Given the description of an element on the screen output the (x, y) to click on. 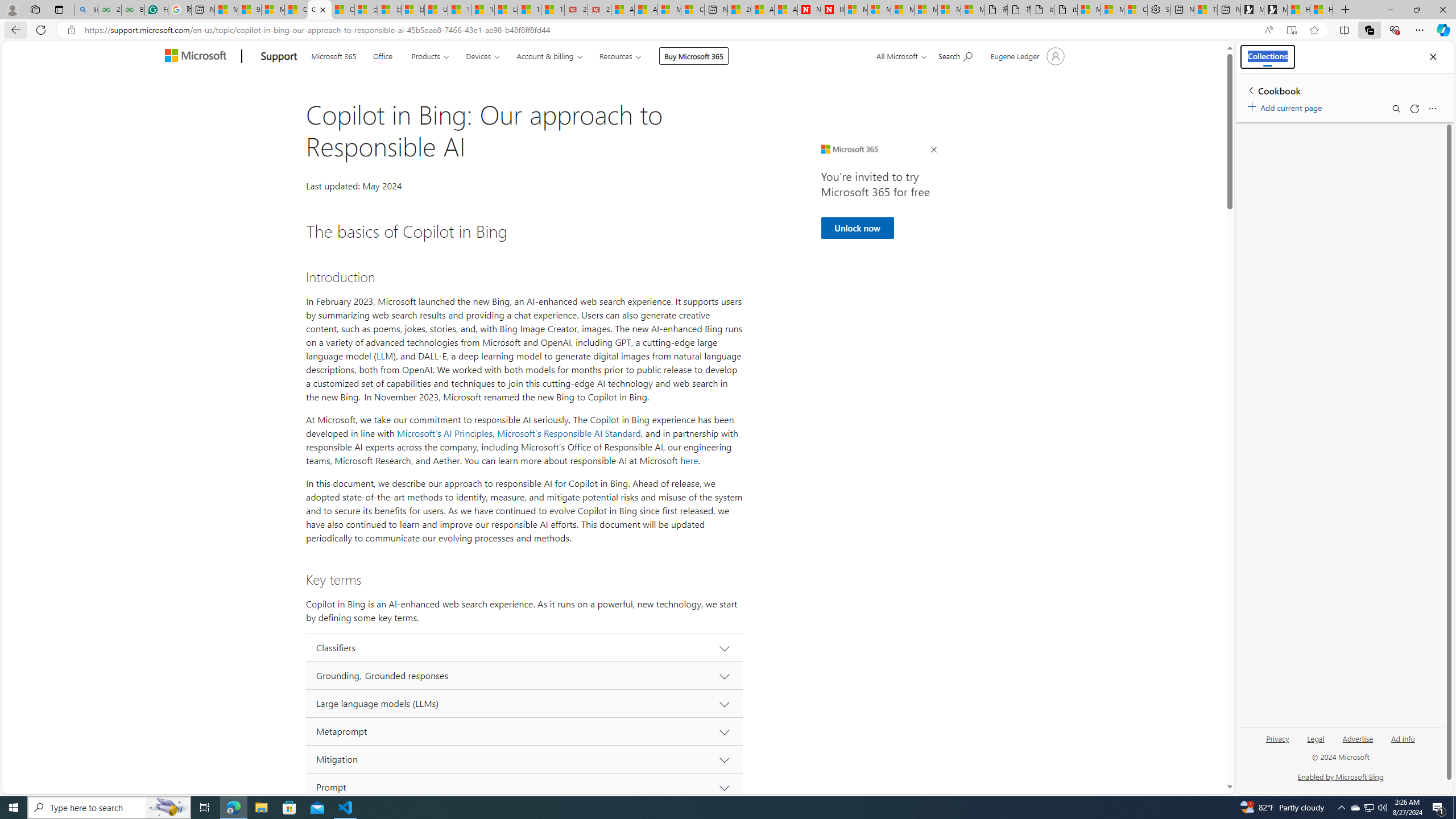
25 Basic Linux Commands For Beginners - GeeksforGeeks (109, 9)
Cloud Computing Services | Microsoft Azure (692, 9)
Close Ad (933, 149)
Buy Microsoft 365 (693, 55)
